Given the description of an element on the screen output the (x, y) to click on. 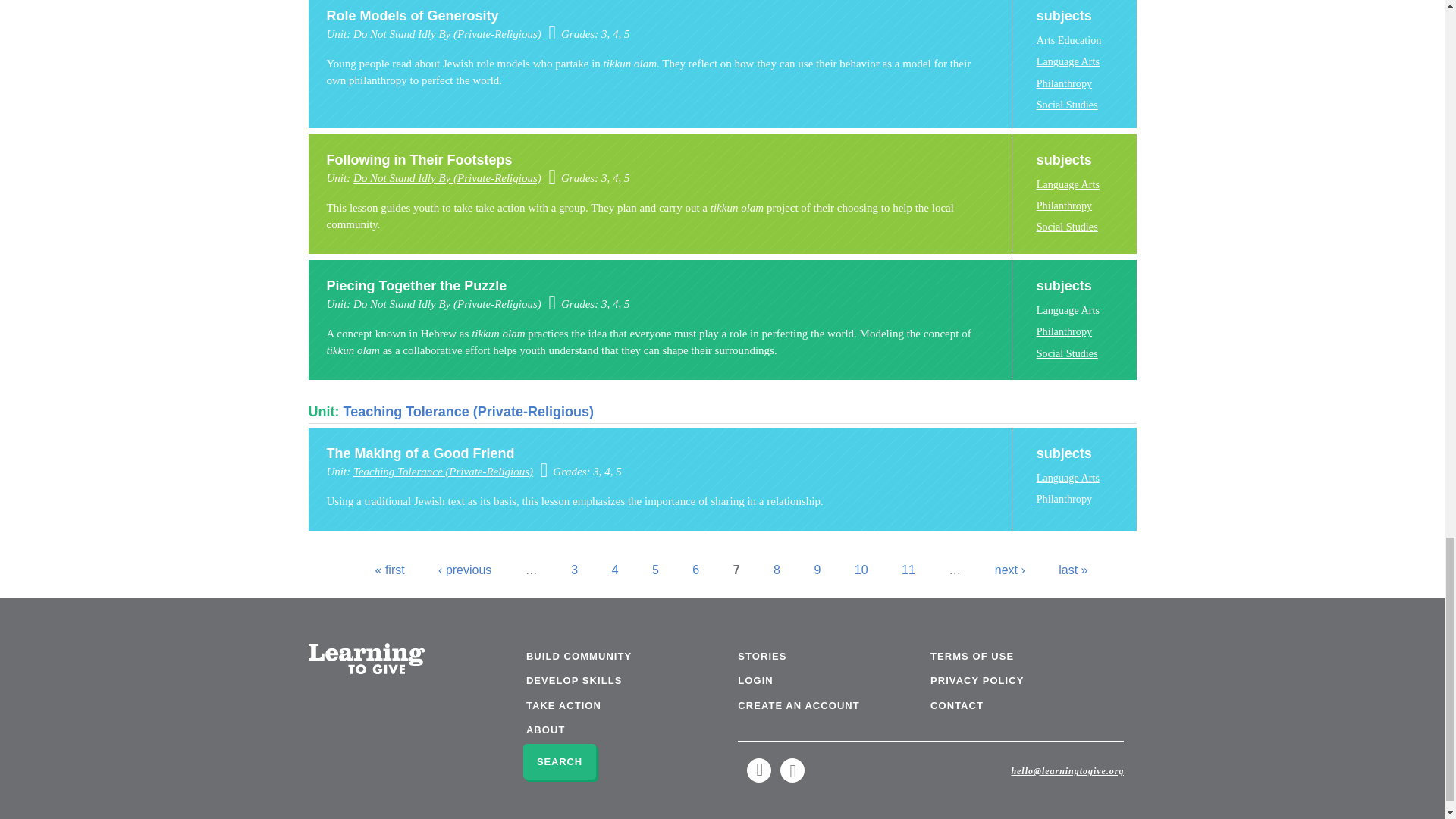
Go to first page (389, 569)
